Given the description of an element on the screen output the (x, y) to click on. 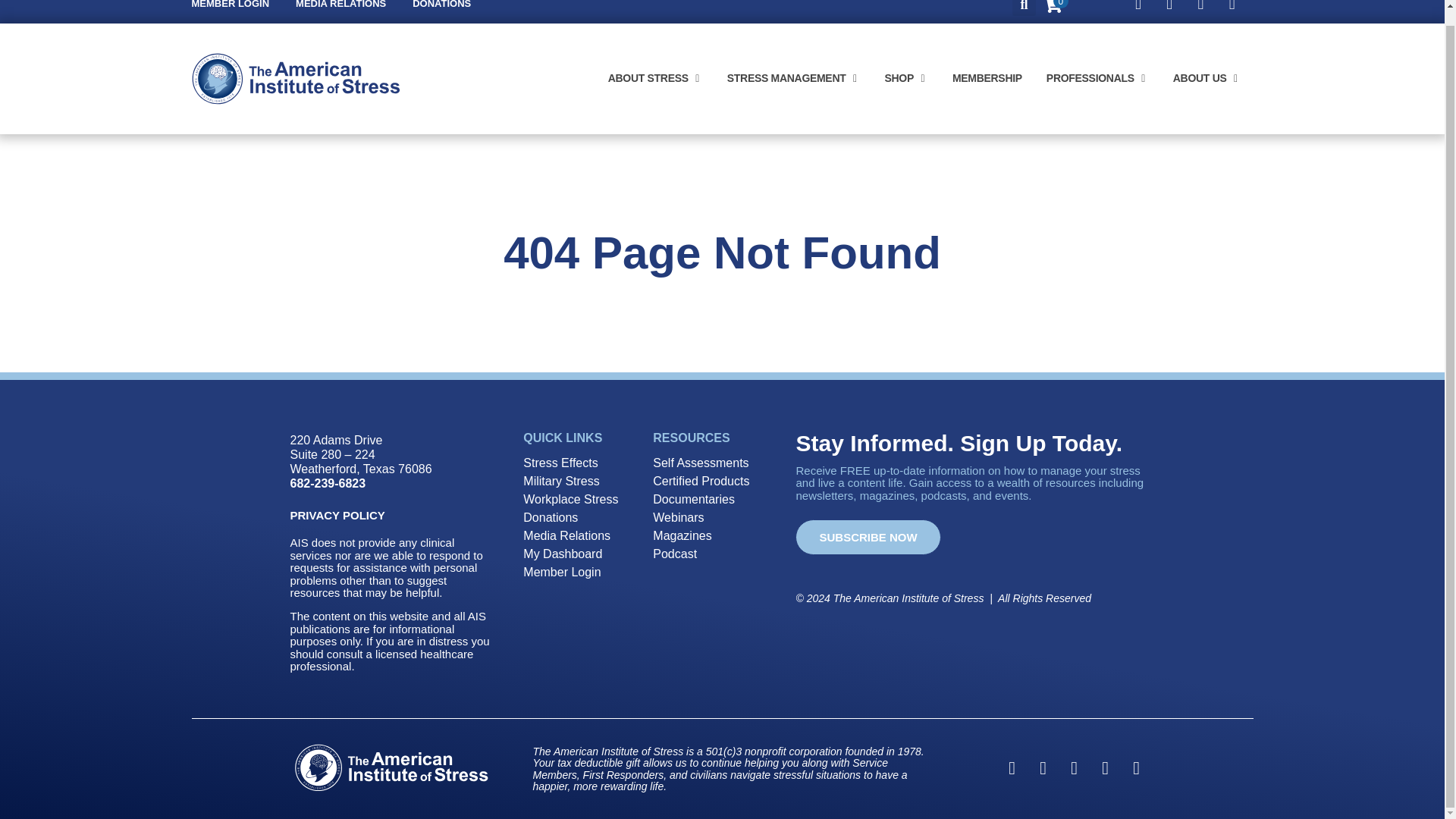
DONATIONS (441, 6)
MEDIA RELATIONS (340, 6)
0 (1052, 8)
MEMBER LOGIN (229, 6)
View your shopping cart (1052, 8)
